Given the description of an element on the screen output the (x, y) to click on. 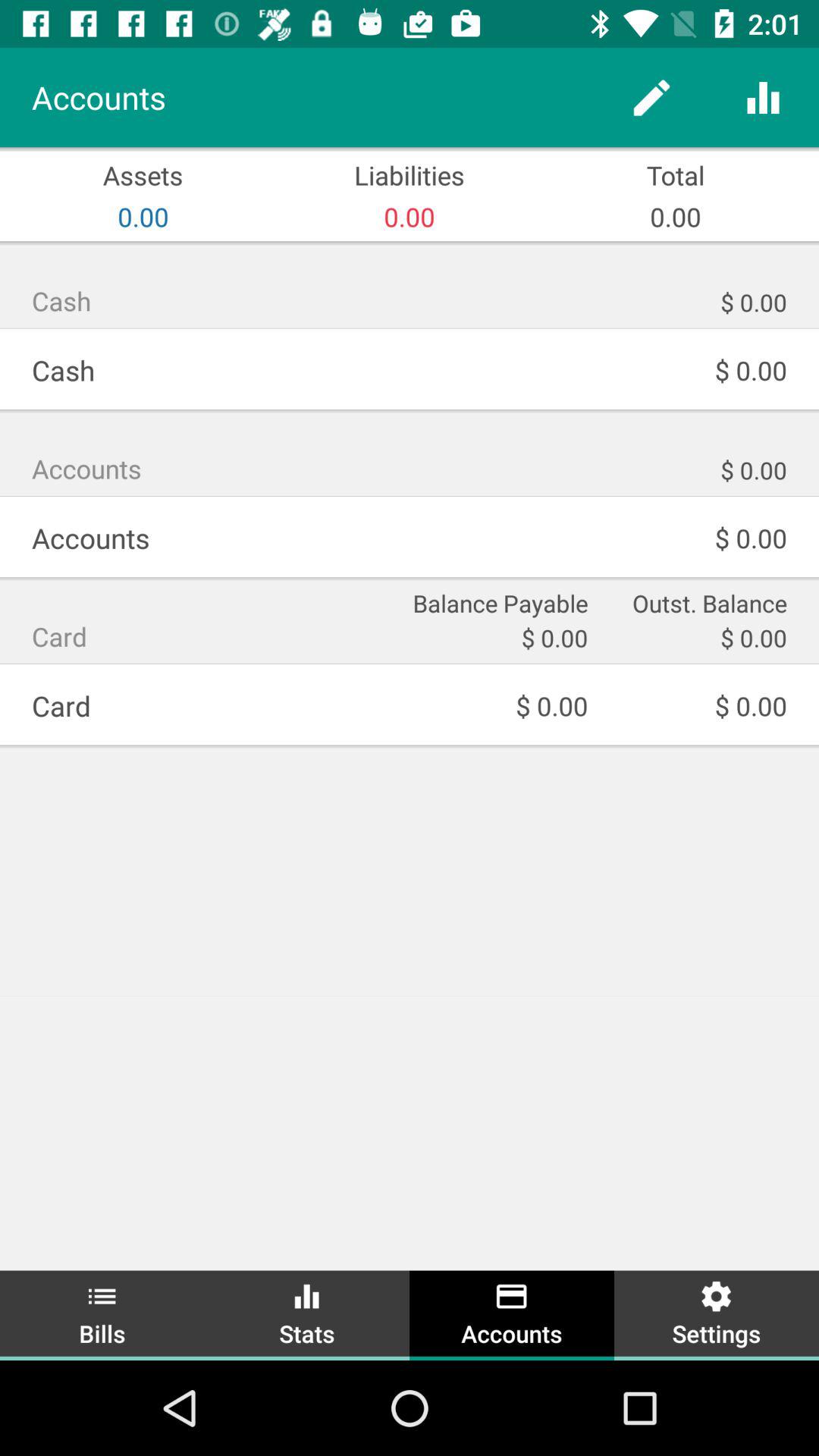
open item above the $ 0.00 (697, 601)
